Given the description of an element on the screen output the (x, y) to click on. 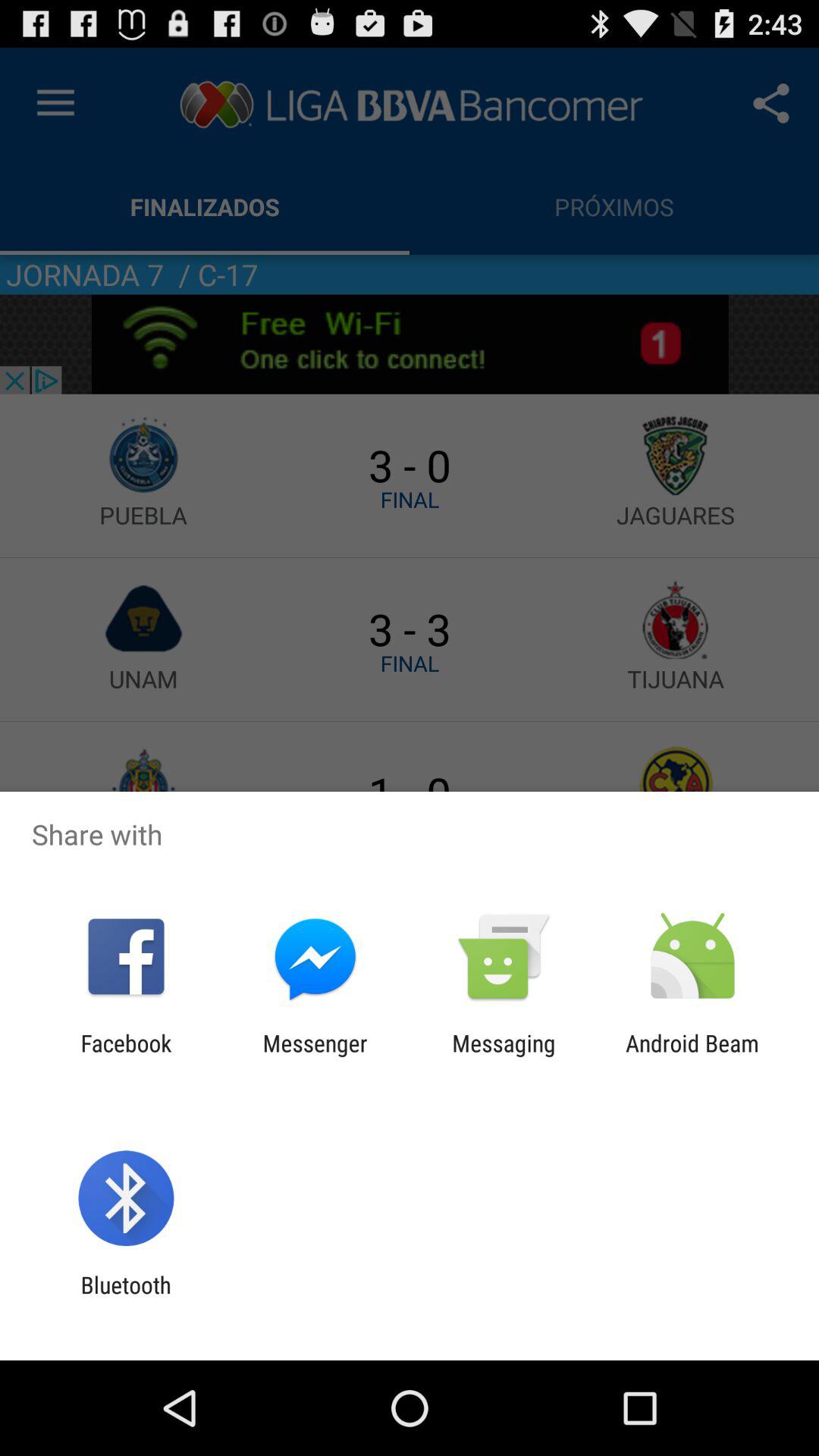
jump until bluetooth item (125, 1298)
